Given the description of an element on the screen output the (x, y) to click on. 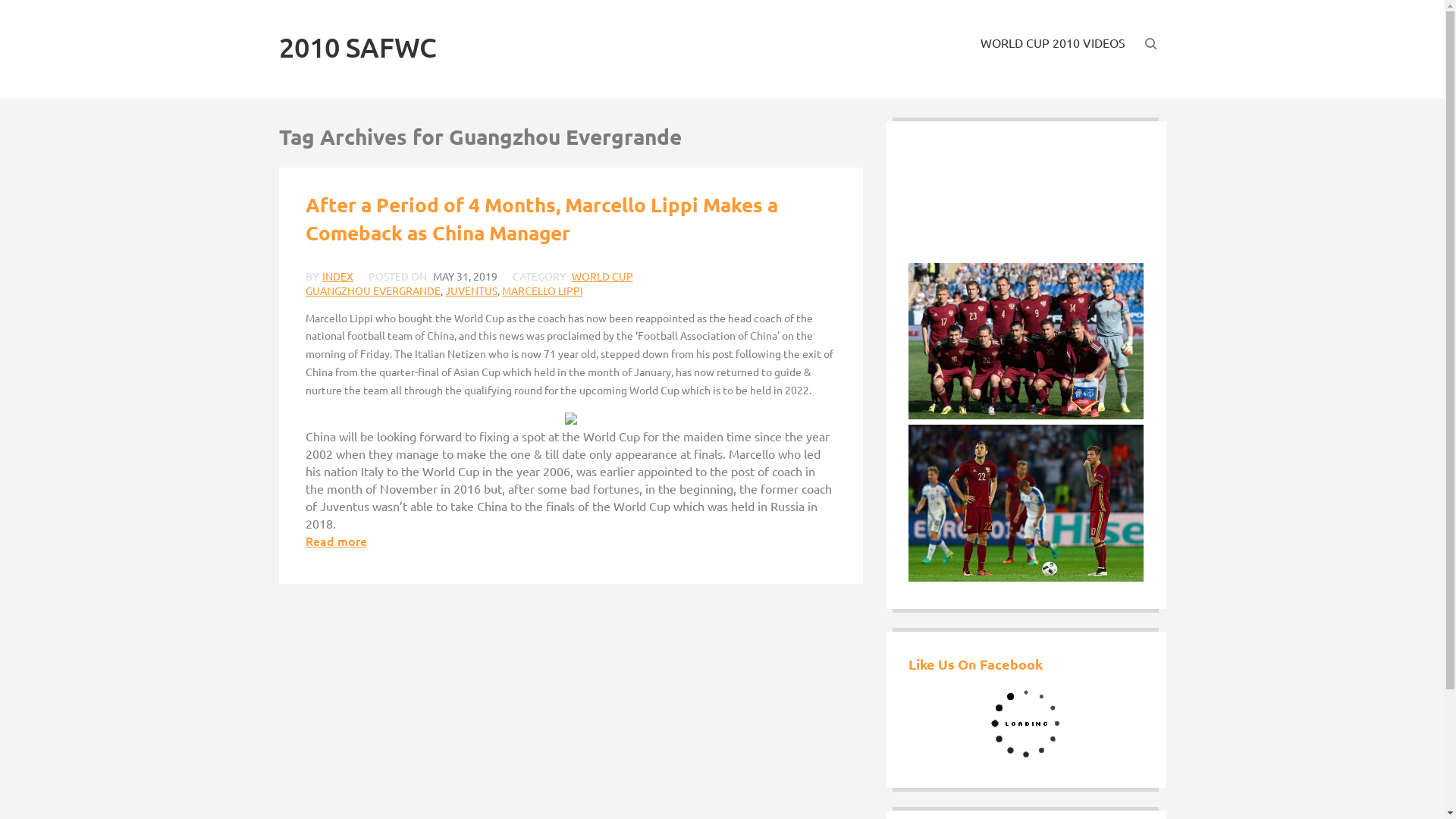
JUVENTUS Element type: text (471, 290)
WORLD CUP 2010 VIDEOS Element type: text (1052, 42)
INDEX Element type: text (337, 275)
Search Element type: text (1140, 68)
WORLD CUP Element type: text (602, 275)
MARCELLO LIPPI Element type: text (542, 290)
GUANGZHOU EVERGRANDE Element type: text (372, 290)
2010 SAFWC Element type: text (357, 47)
Read more Element type: text (336, 540)
